Given the description of an element on the screen output the (x, y) to click on. 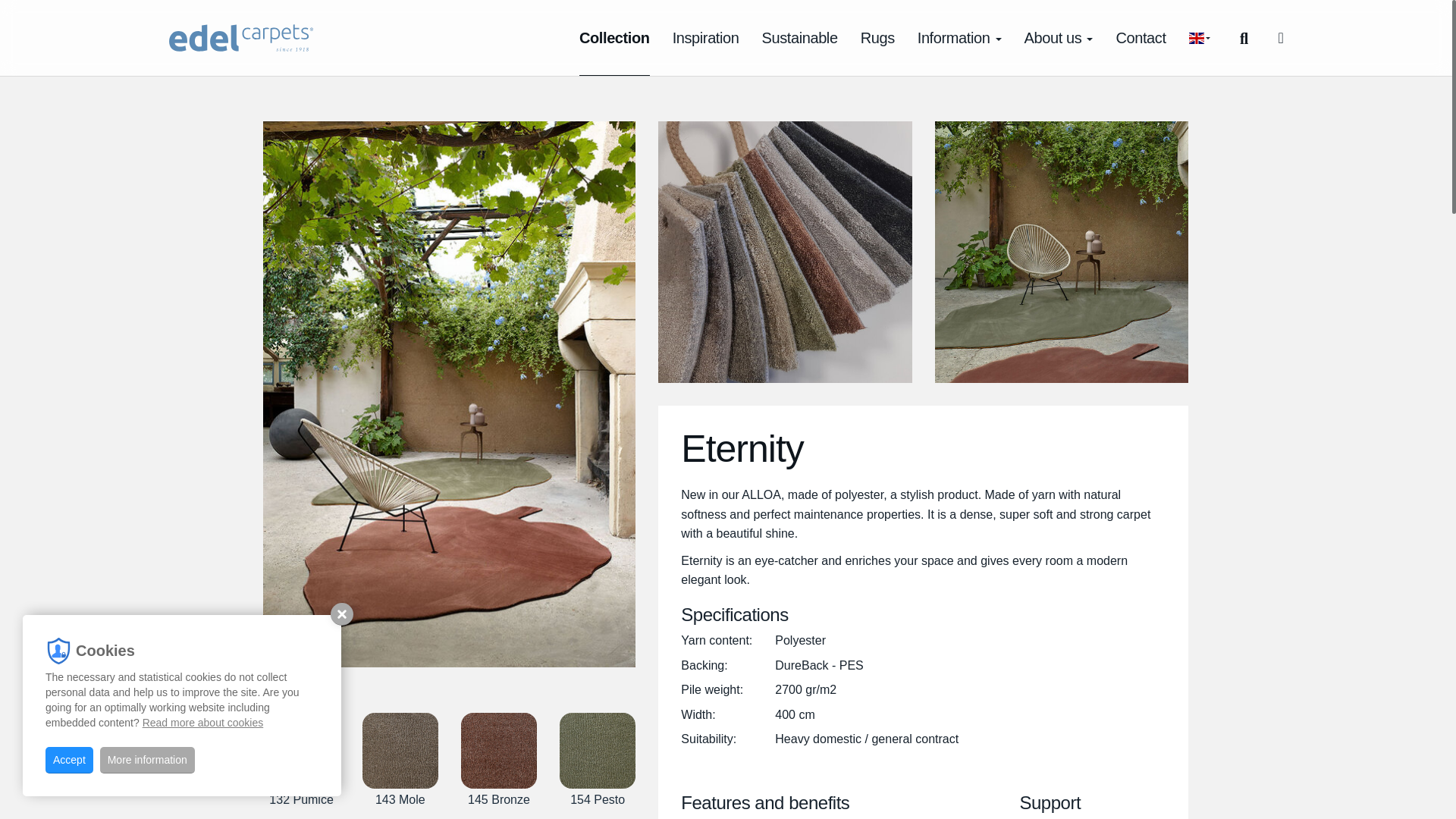
Inspiration (706, 38)
Collection (614, 38)
About us (1059, 38)
Rugs (876, 38)
Edel Carpets (240, 37)
Sustainable (799, 38)
Information (959, 38)
English (1196, 37)
